Given the description of an element on the screen output the (x, y) to click on. 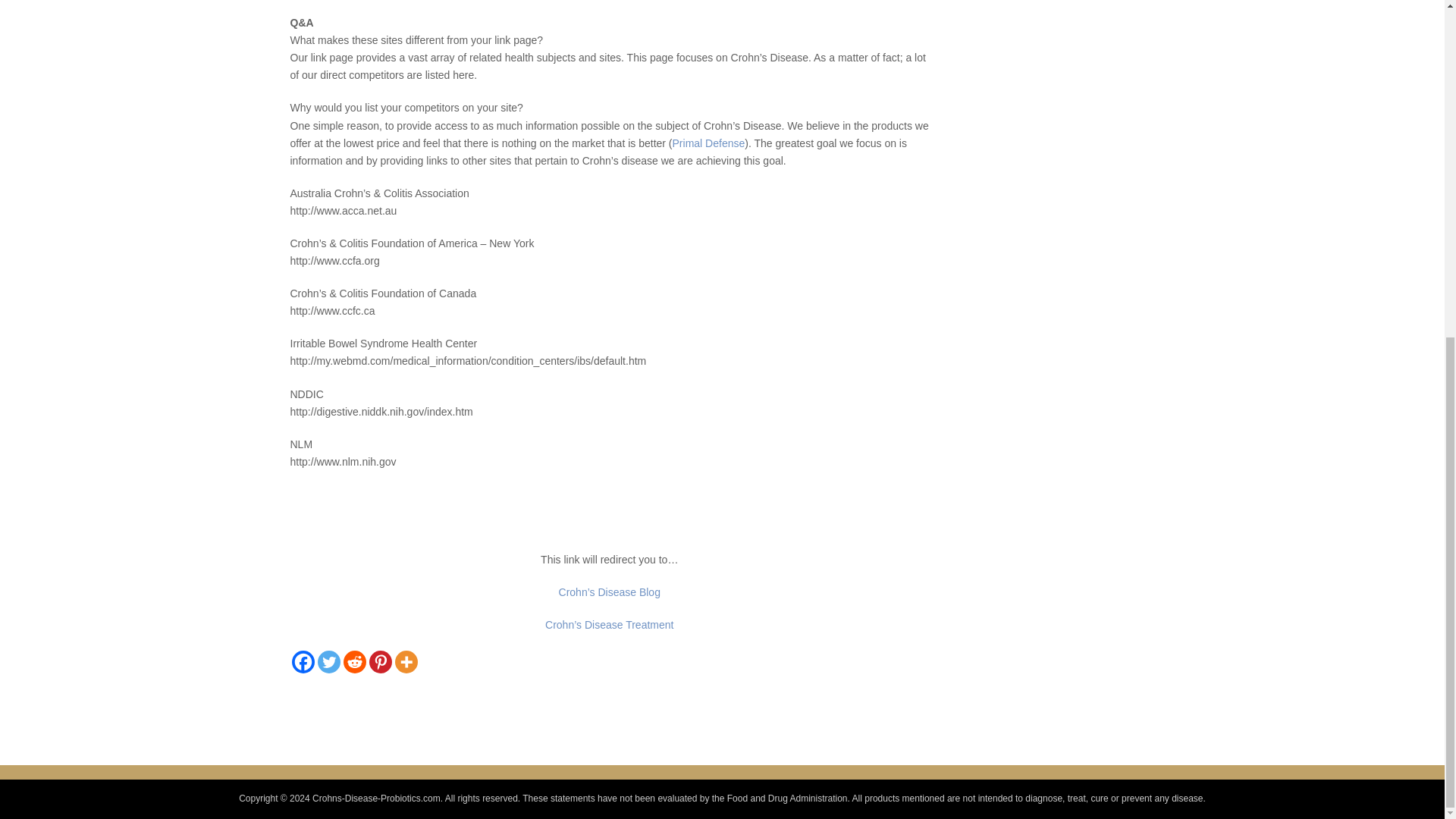
Facebook (302, 661)
Reddit (353, 661)
Pinterest (379, 661)
More (405, 661)
Twitter (328, 661)
Primal Defense (708, 143)
